Given the description of an element on the screen output the (x, y) to click on. 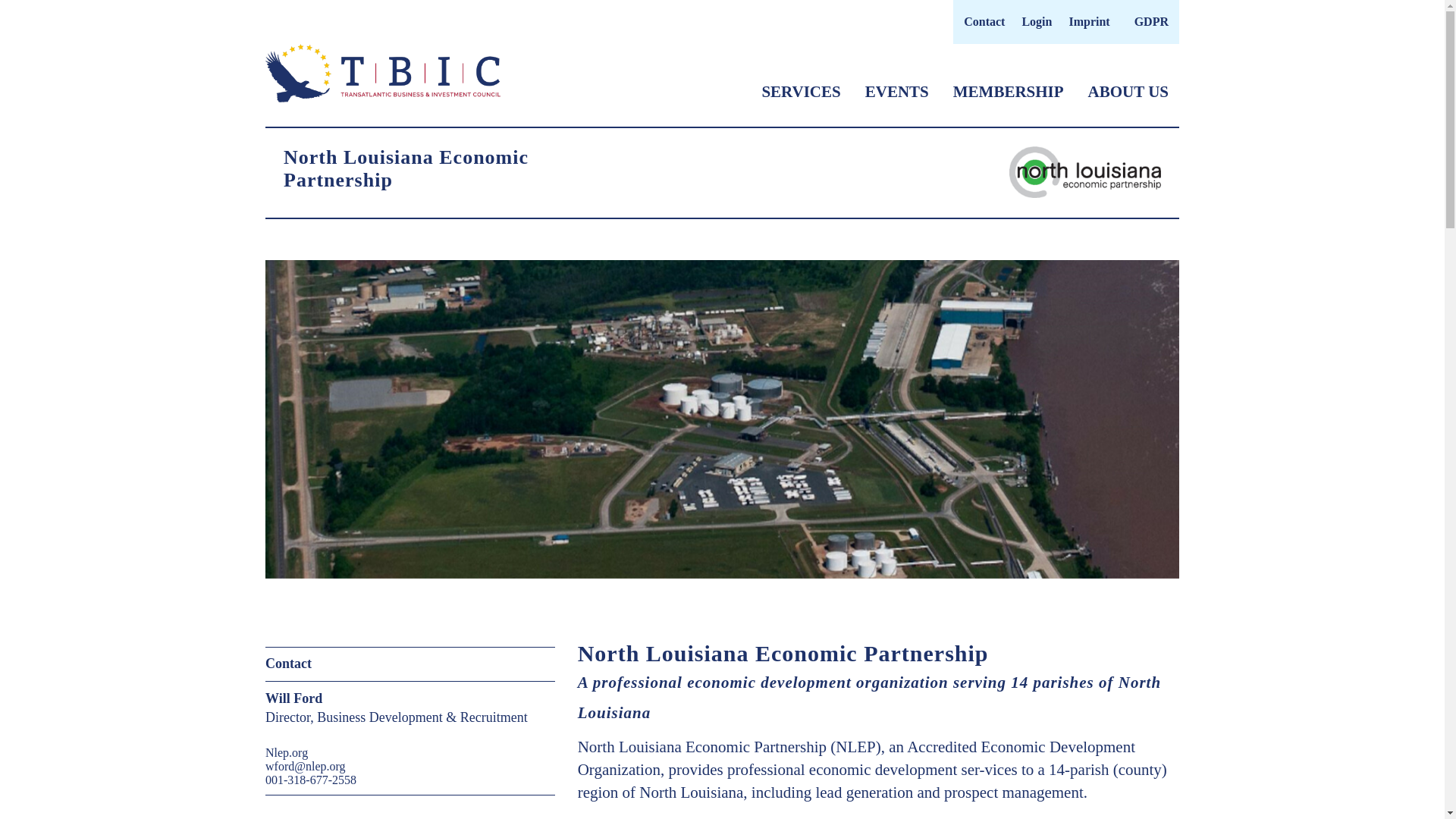
EVENTS (896, 91)
ABOUT US (1128, 91)
Imprint (1088, 21)
Contact (983, 21)
MEMBERSHIP (1008, 91)
GDPR (1151, 21)
SERVICES (800, 91)
